Given the description of an element on the screen output the (x, y) to click on. 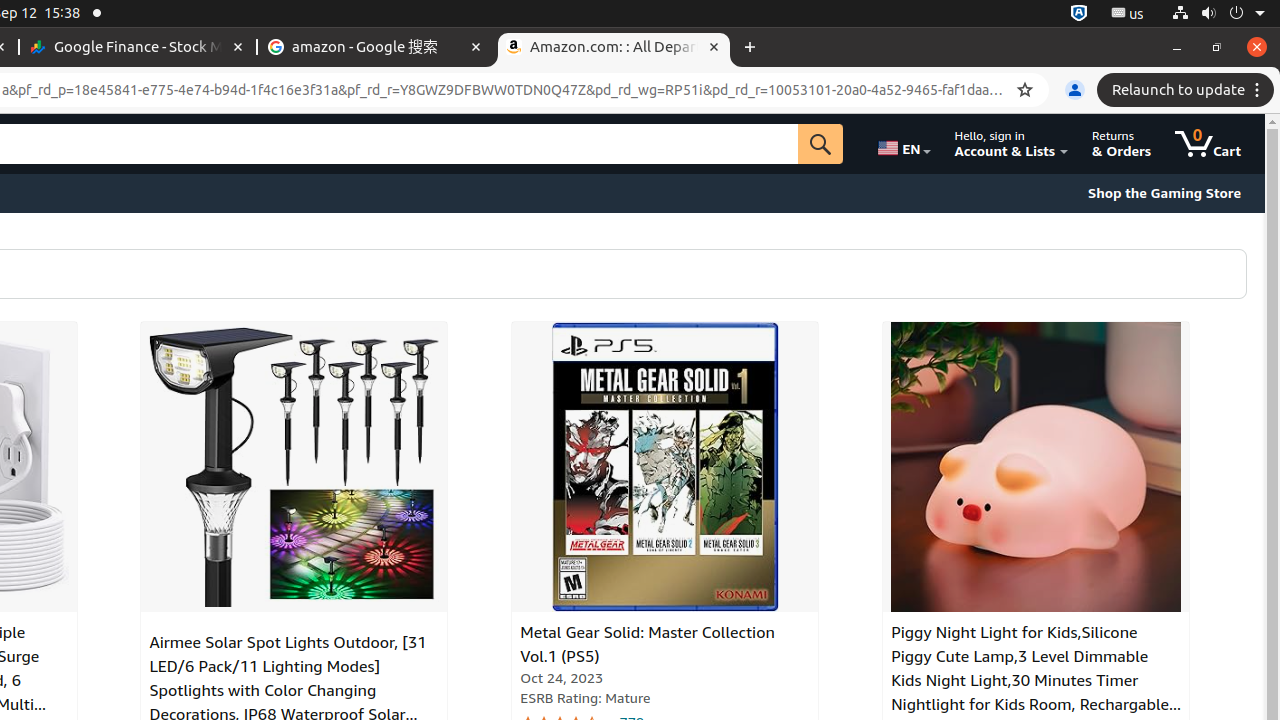
Hello, sign in Account & Lists Element type: link (1011, 144)
0 items in cart Element type: link (1208, 144)
Choose a language for shopping. Element type: link (903, 144)
